Given the description of an element on the screen output the (x, y) to click on. 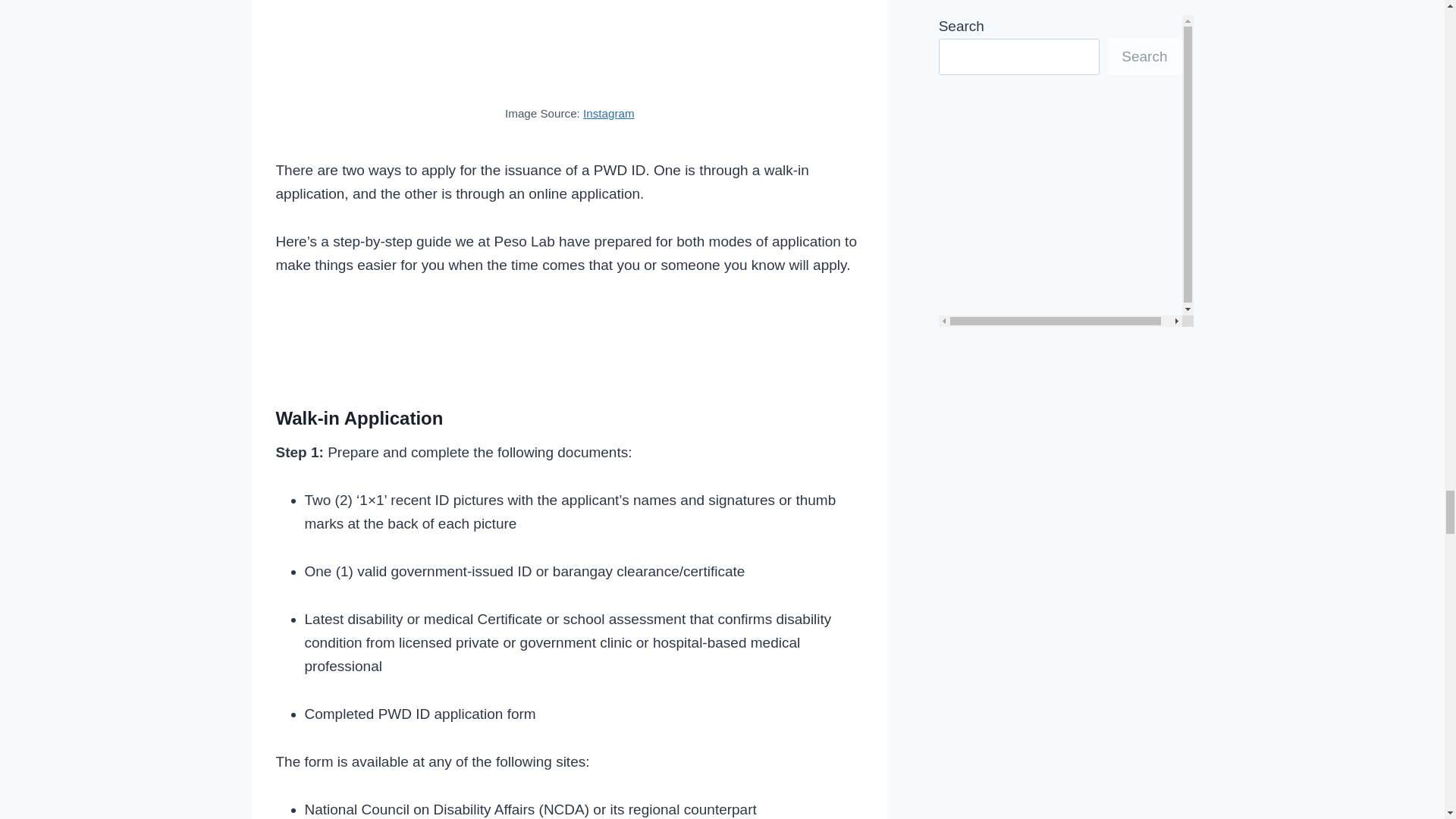
Instagram (608, 113)
